Given the description of an element on the screen output the (x, y) to click on. 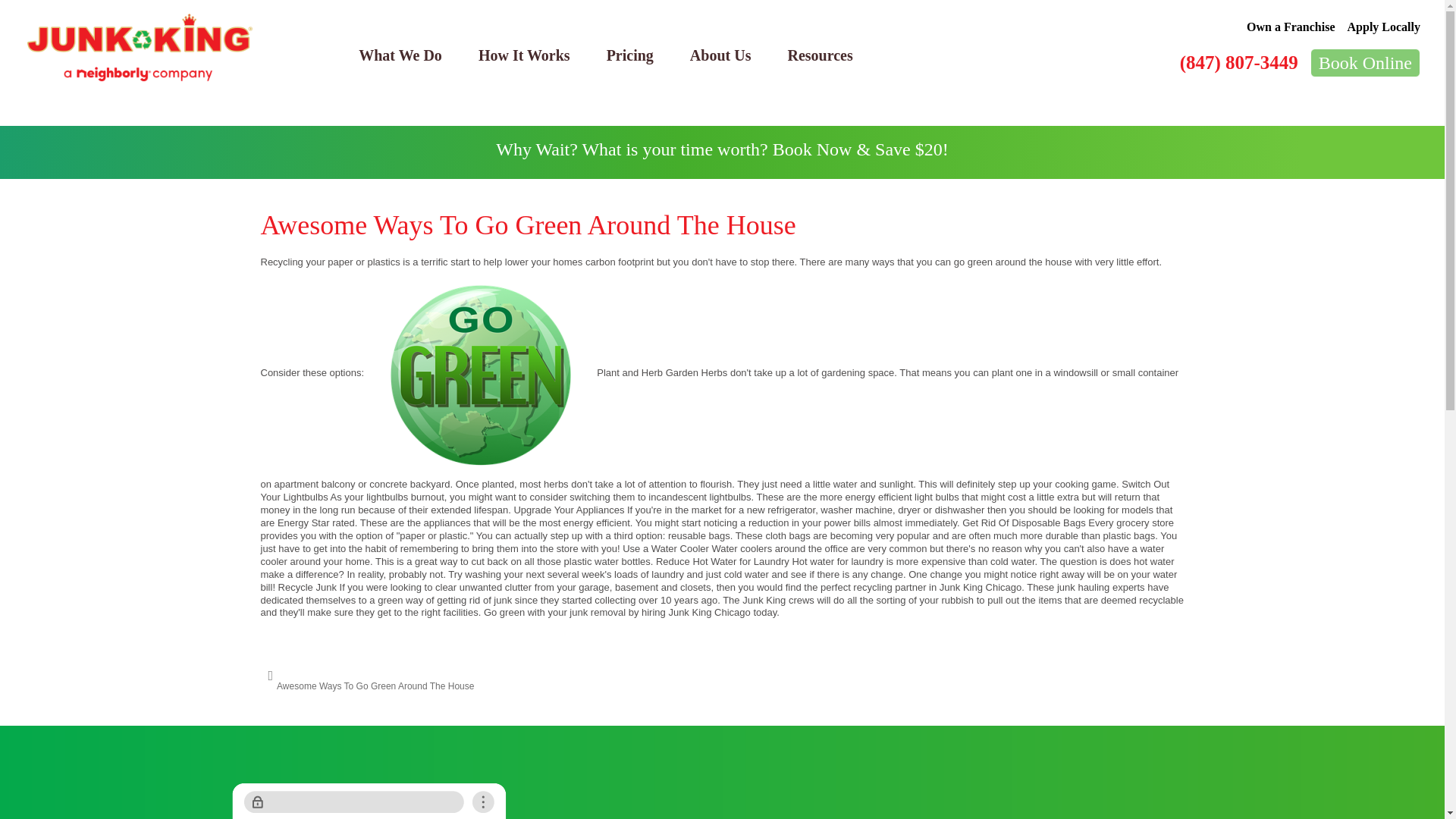
Resources (819, 54)
Book Online (1365, 62)
What We Do (400, 54)
Apply Locally (1384, 27)
How It Works (524, 54)
Banner Pane (721, 152)
Own a Franchise (1290, 27)
phone (368, 800)
Pricing (629, 54)
